Given the description of an element on the screen output the (x, y) to click on. 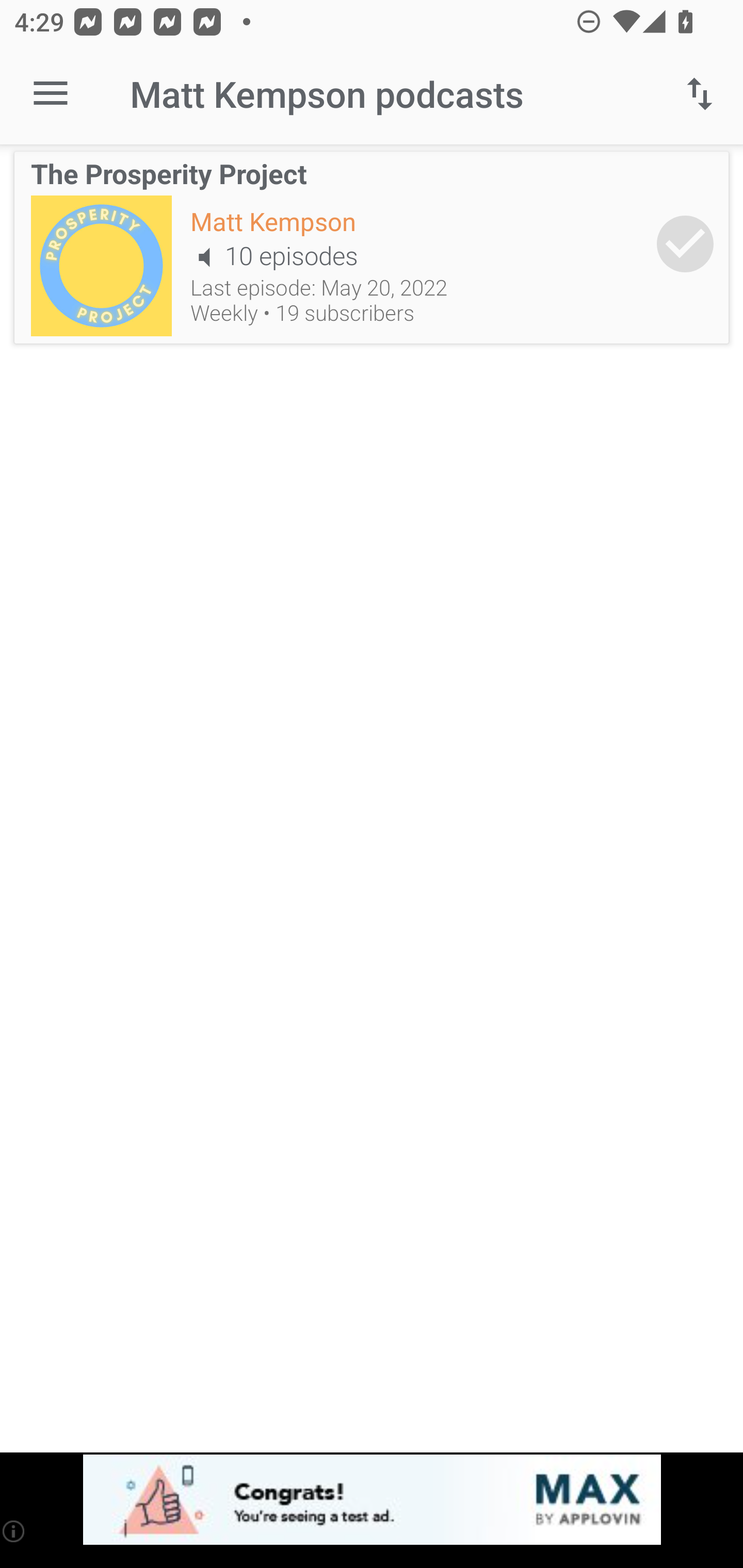
Open navigation sidebar (50, 93)
Sort (699, 93)
Add (684, 243)
app-monetization (371, 1500)
(i) (14, 1531)
